Given the description of an element on the screen output the (x, y) to click on. 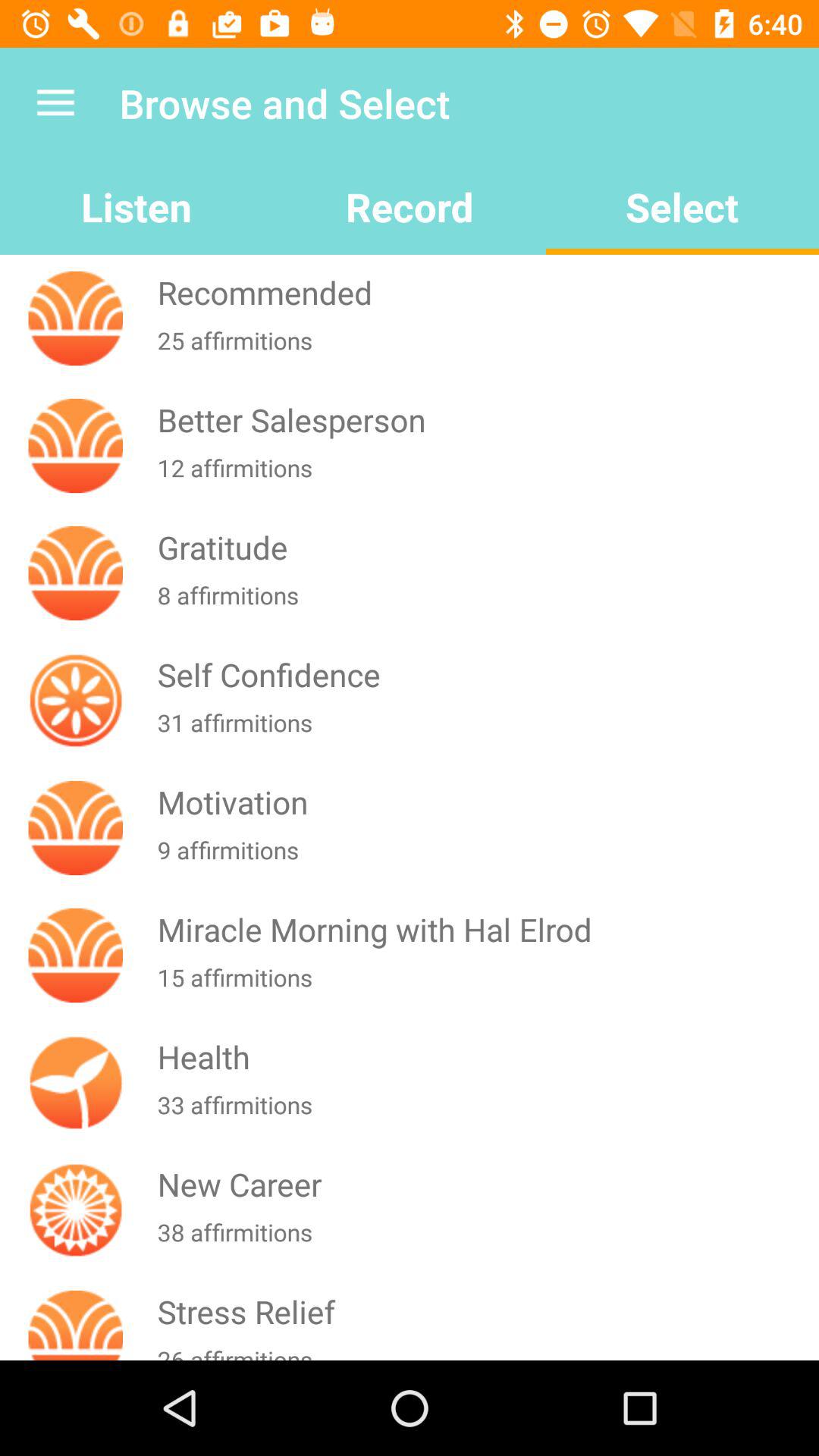
press the recommended icon (484, 292)
